Given the description of an element on the screen output the (x, y) to click on. 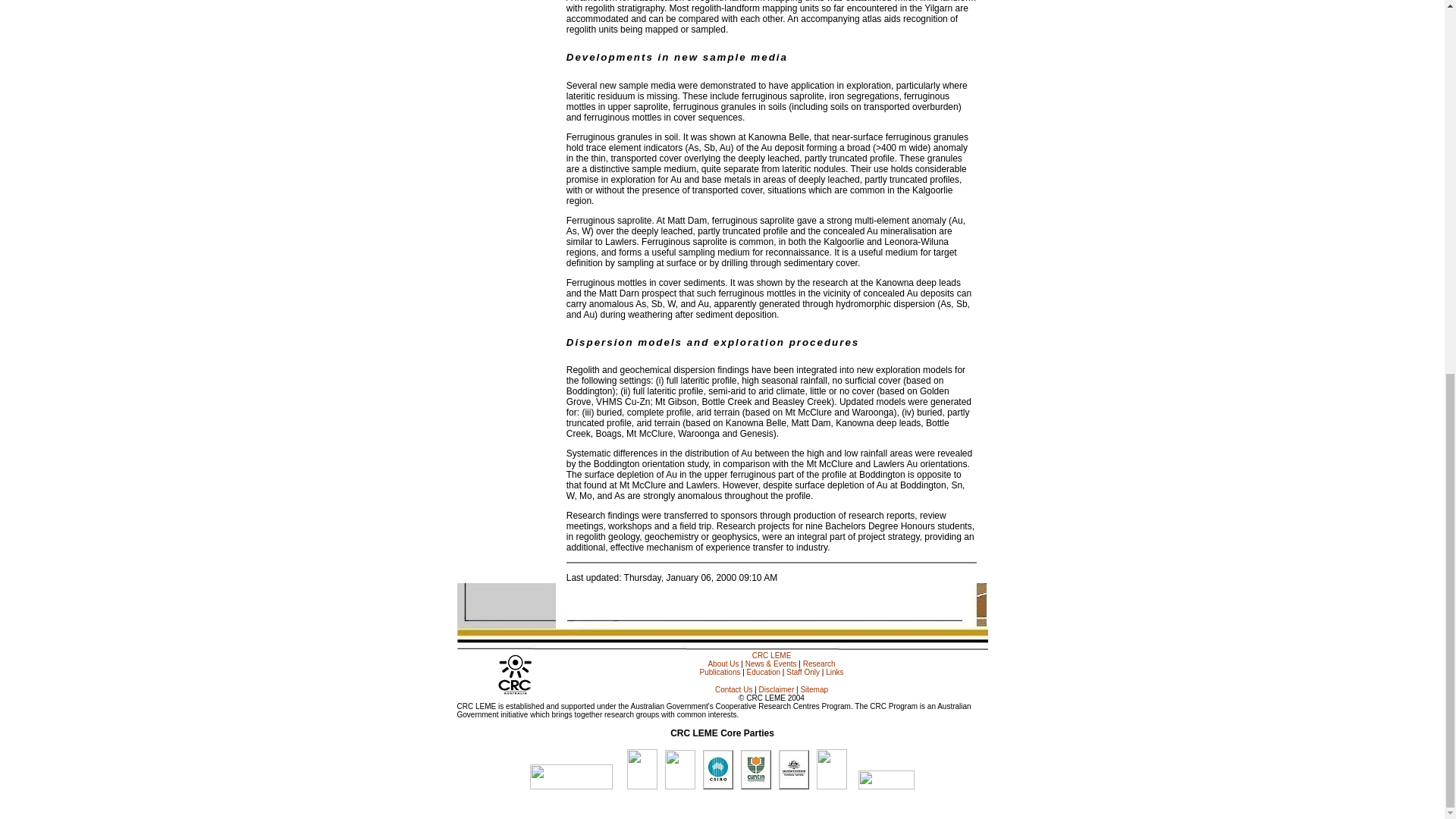
Education (763, 672)
Research (819, 664)
Sitemap (813, 689)
Publications (720, 672)
Contact Us (733, 689)
Links (834, 672)
CRC LEME (772, 655)
About Us (722, 664)
Staff Only (802, 672)
Disclaimer (776, 689)
